Given the description of an element on the screen output the (x, y) to click on. 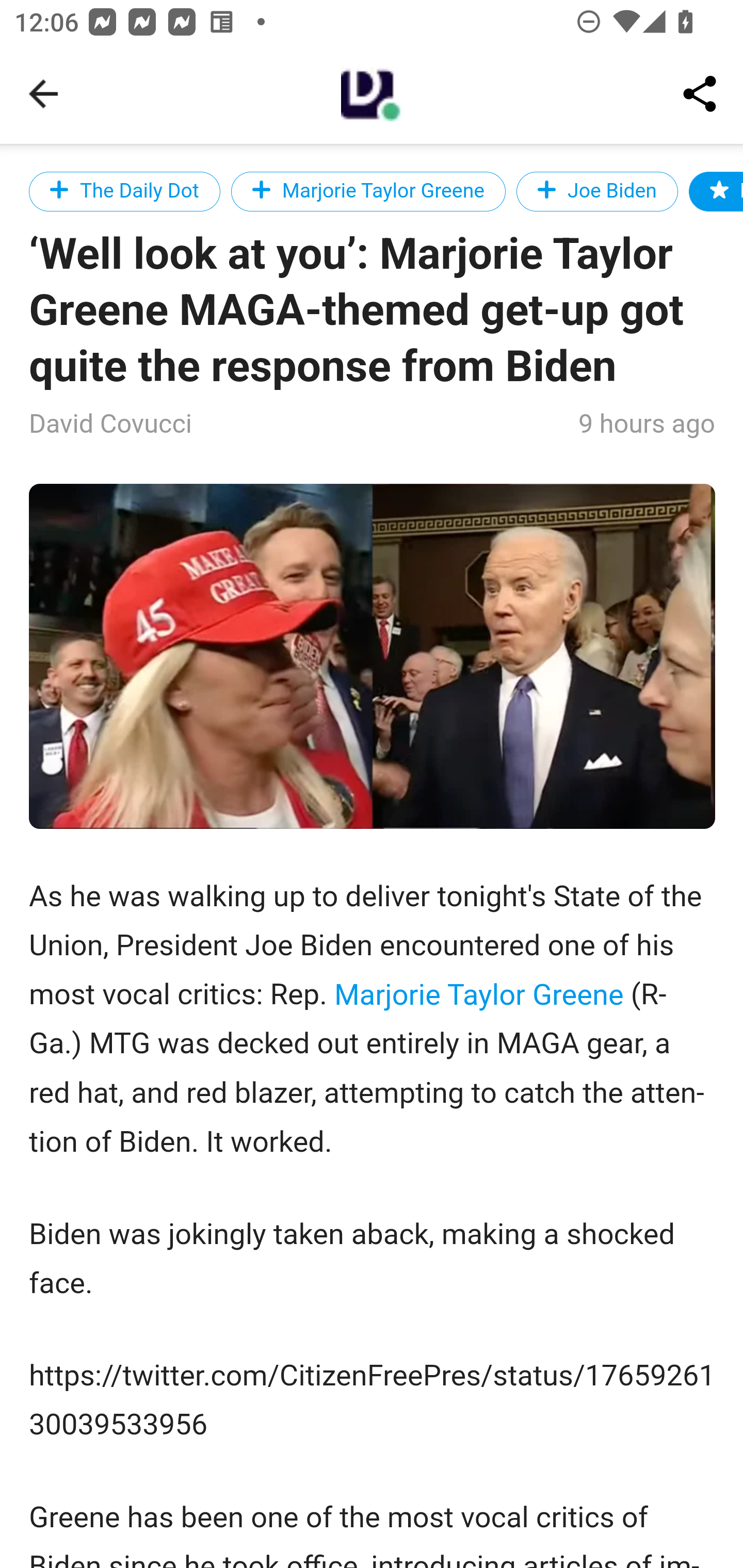
The Daily Dot (125, 191)
Marjorie Taylor Greene (366, 191)
Joe Biden (597, 191)
Marjorie Taylor Greene (478, 993)
